Given the description of an element on the screen output the (x, y) to click on. 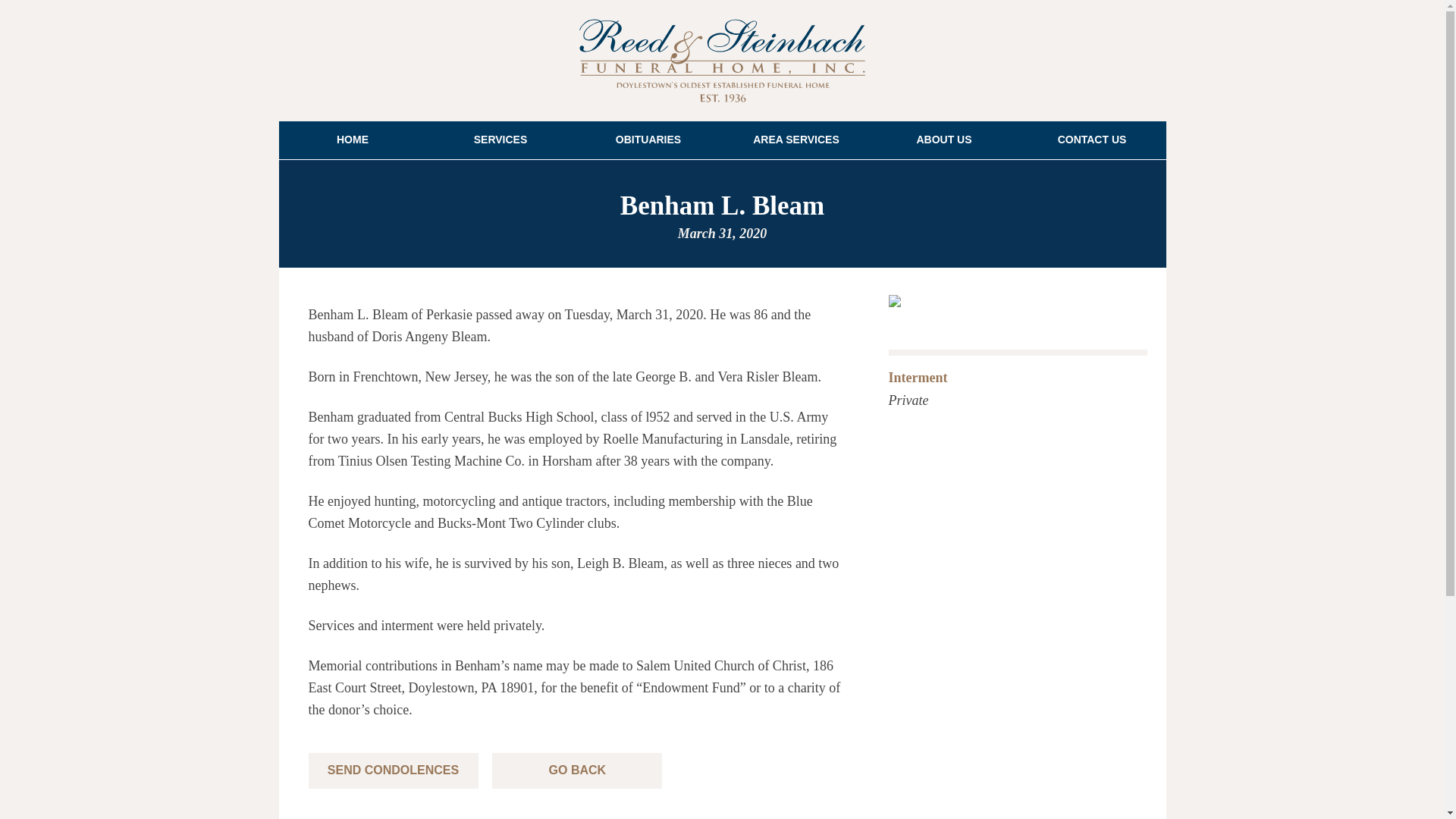
CONTACT US (1091, 139)
SEND CONDOLENCES (392, 770)
ABOUT US (943, 139)
HOME (352, 139)
SERVICES (499, 139)
OBITUARIES (648, 139)
AREA SERVICES (795, 139)
GO BACK (577, 770)
